Given the description of an element on the screen output the (x, y) to click on. 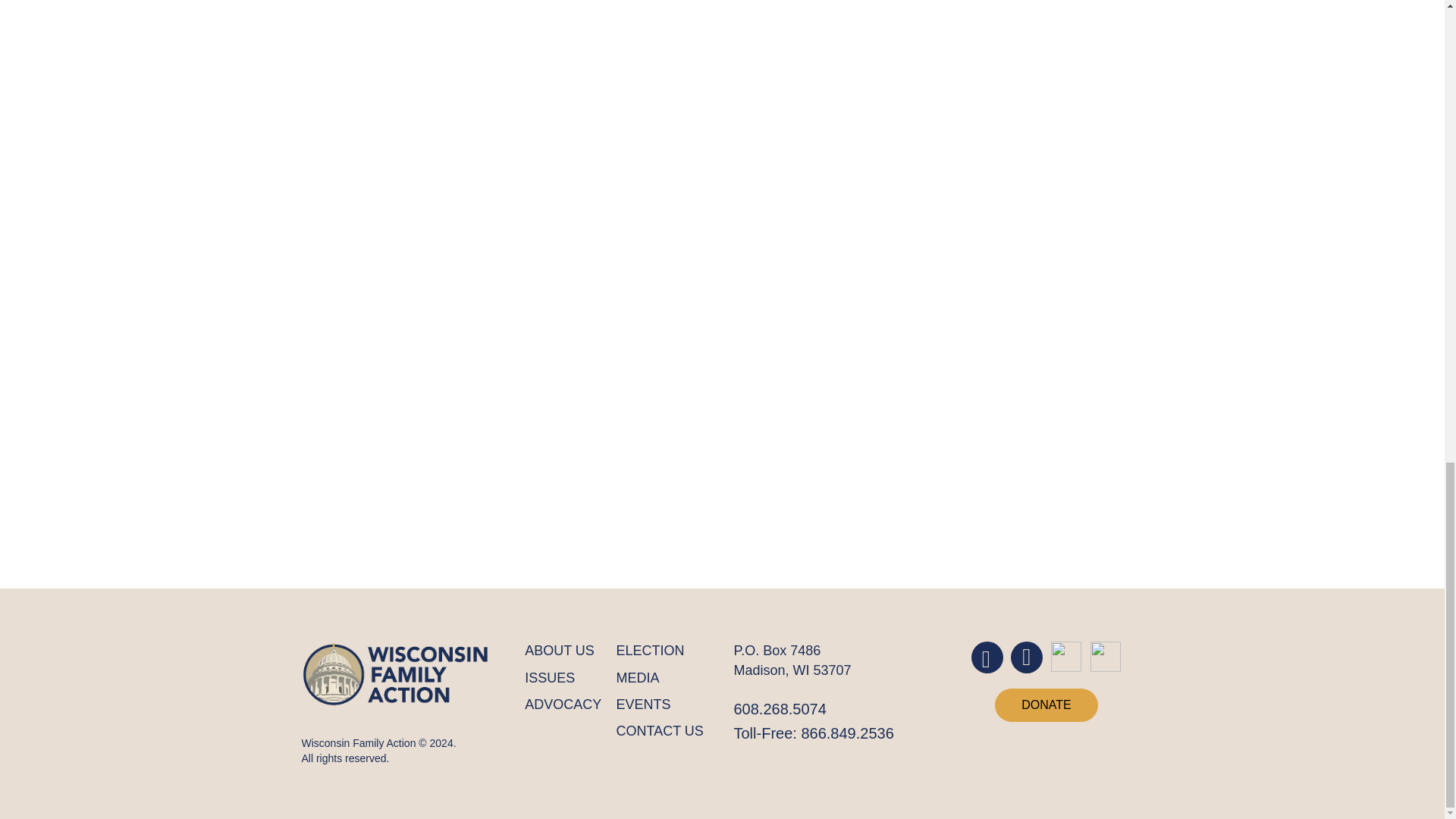
866.849.2536 (846, 733)
ISSUES (562, 678)
MEDIA (659, 678)
608.268.5074 (780, 709)
ELECTION (659, 650)
About Us (562, 650)
ABOUT US (562, 650)
DONATE (1045, 704)
ADVOCACY (562, 704)
EVENTS (659, 704)
CONTACT US (659, 731)
